Given the description of an element on the screen output the (x, y) to click on. 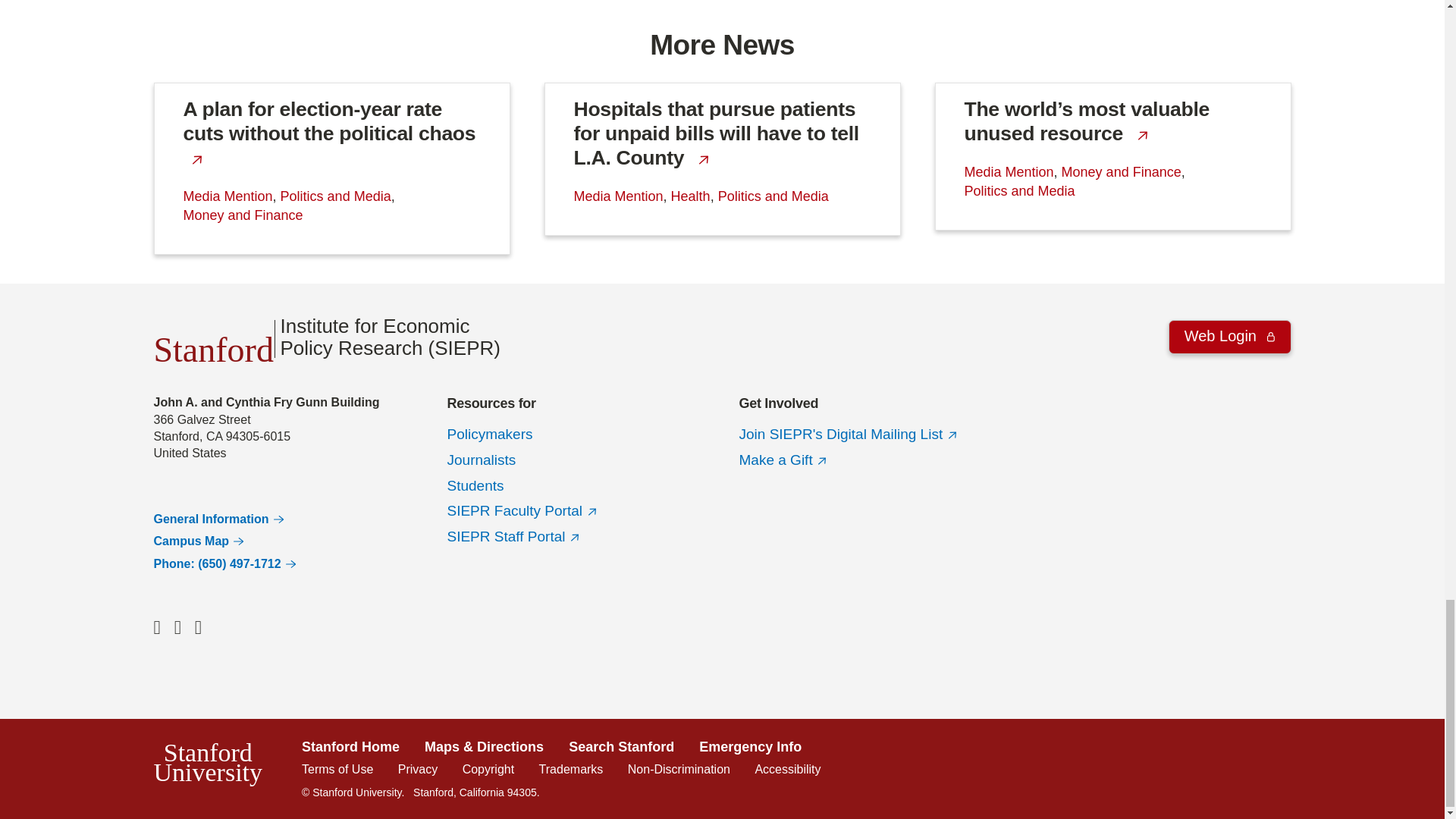
Report alleged copyright infringement (488, 768)
Non-discrimination policy (678, 768)
Ownership and use of Stanford trademarks and images (571, 768)
Privacy and cookie policy (417, 768)
Terms of use for sites (336, 768)
Report web accessibility issues (787, 768)
